Given the description of an element on the screen output the (x, y) to click on. 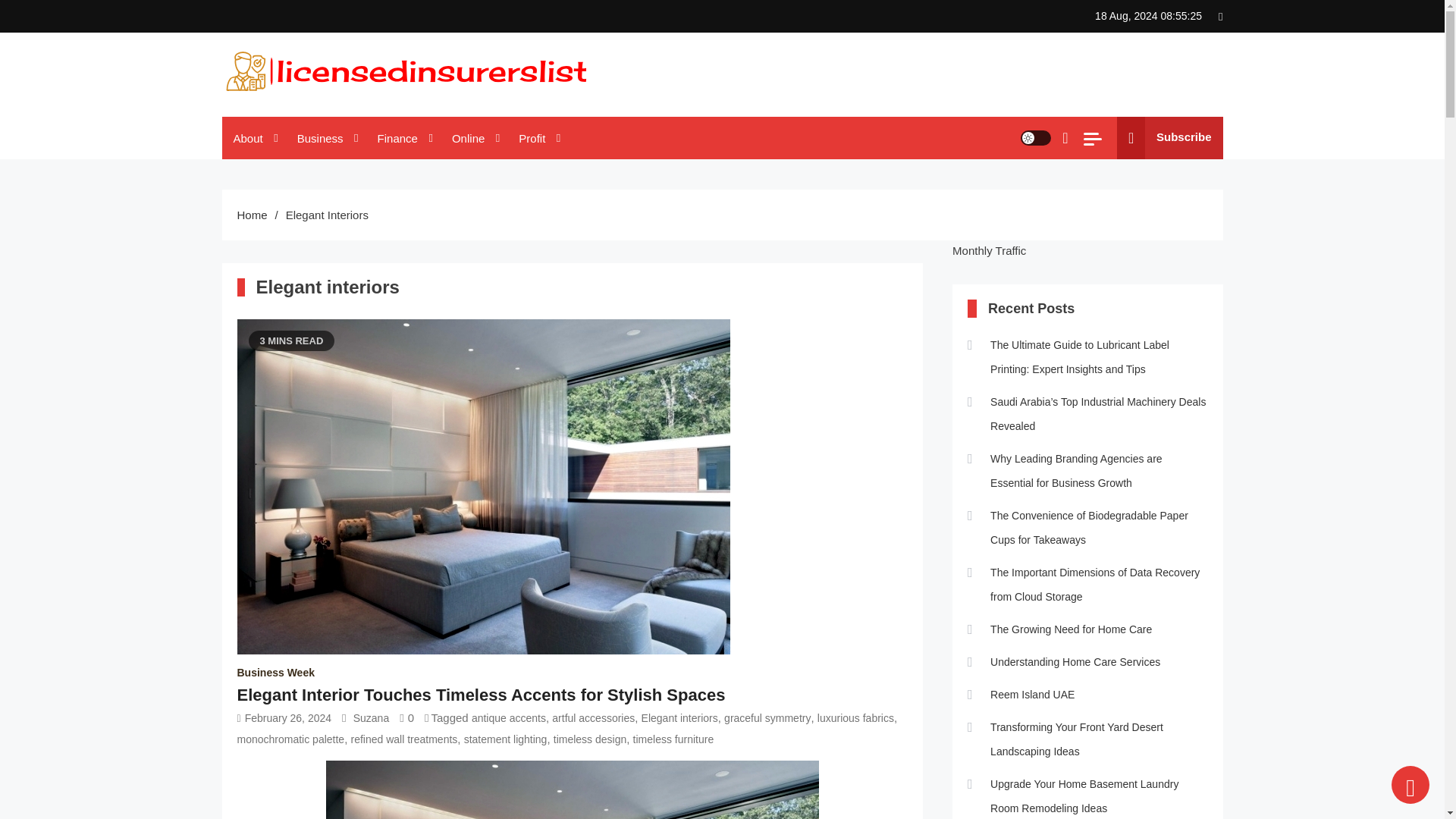
About (253, 137)
Elegant Interior Touches Timeless Accents for Stylish Spaces (572, 789)
Profit (536, 137)
Online (473, 137)
Licensedinsurerslist (331, 110)
Finance (403, 137)
Business (325, 137)
site mode button (1035, 137)
